Given the description of an element on the screen output the (x, y) to click on. 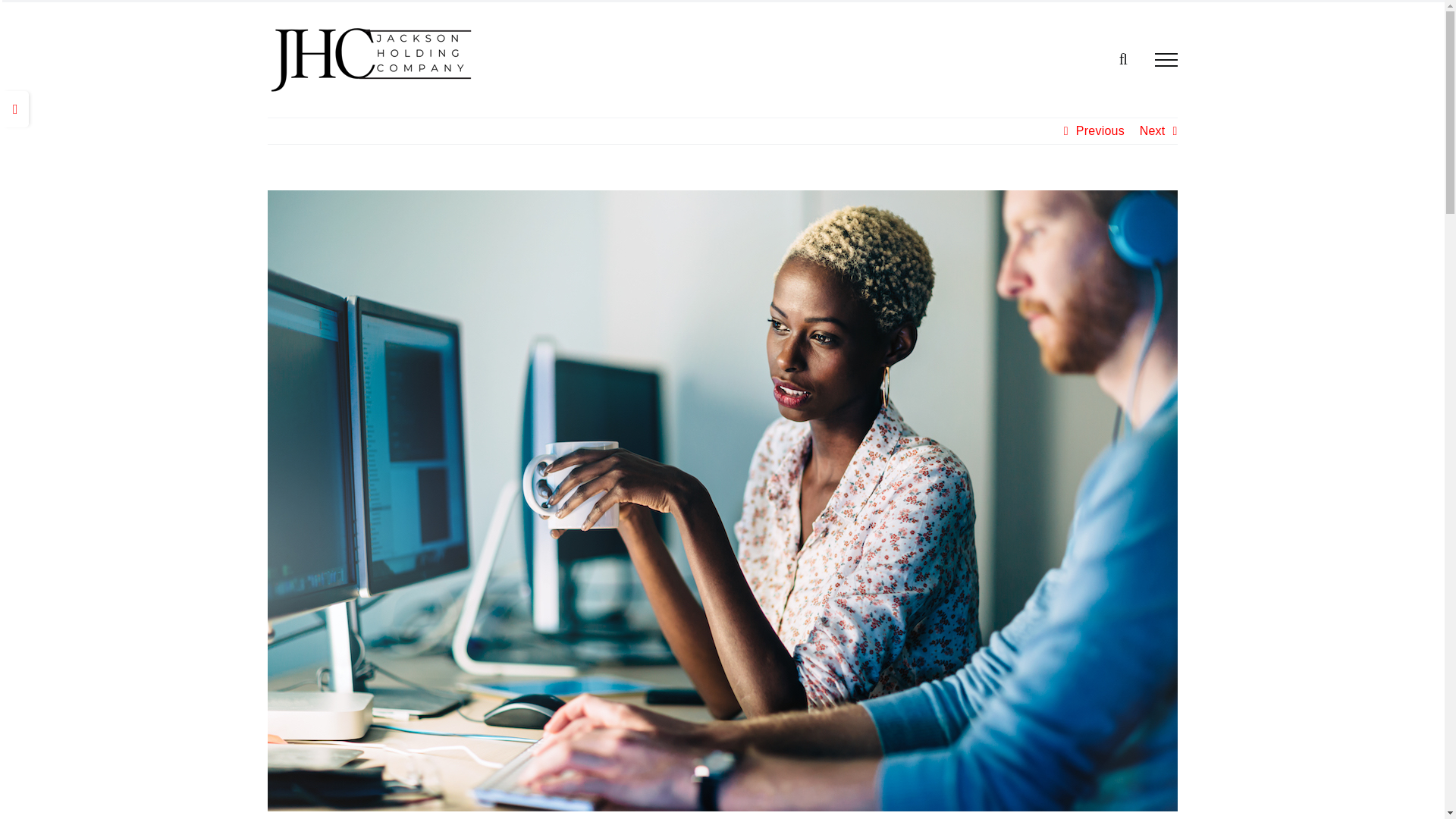
Previous (1099, 130)
Next (1153, 130)
